Given the description of an element on the screen output the (x, y) to click on. 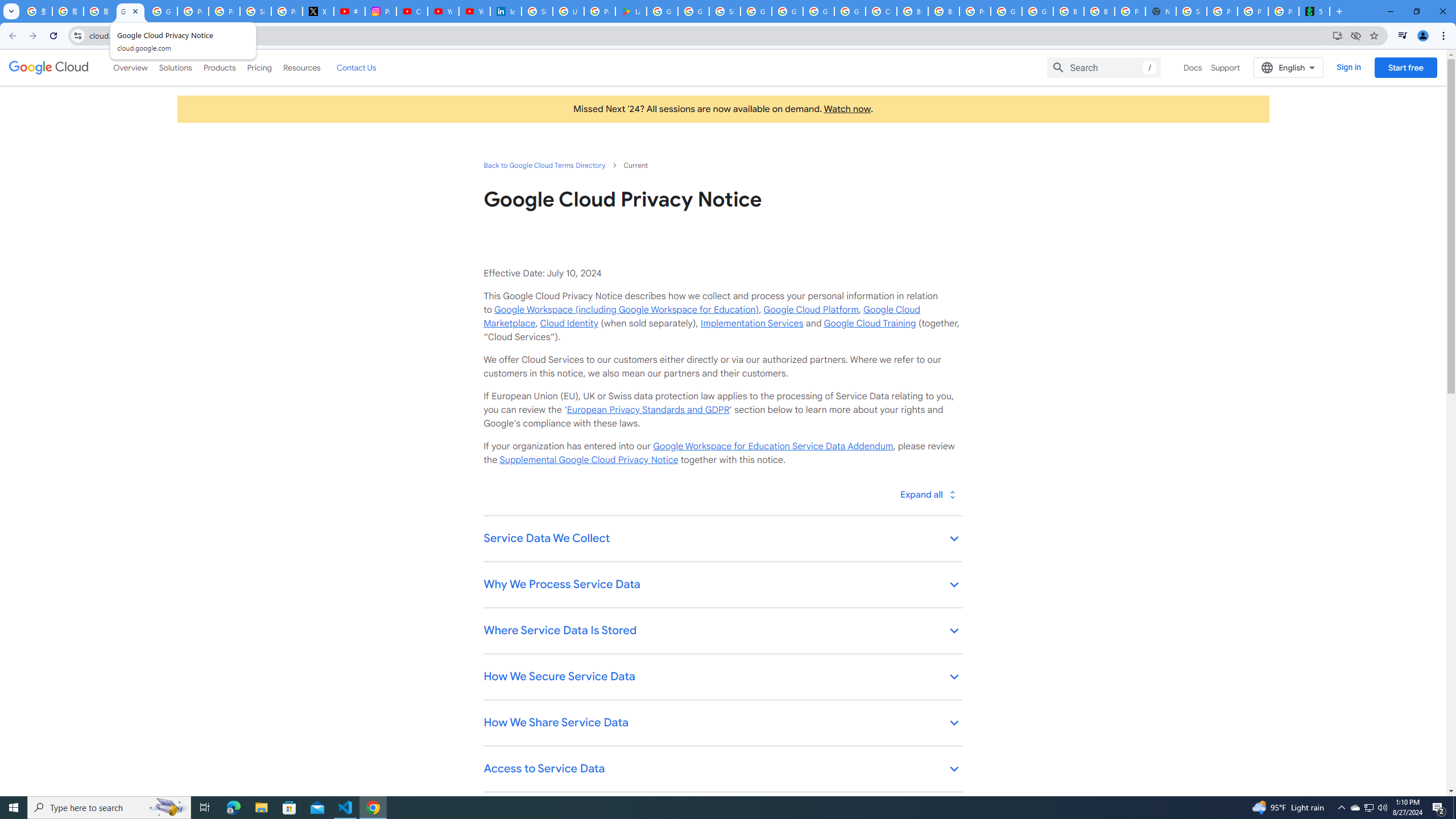
Google Cloud Platform (1005, 11)
